Given the description of an element on the screen output the (x, y) to click on. 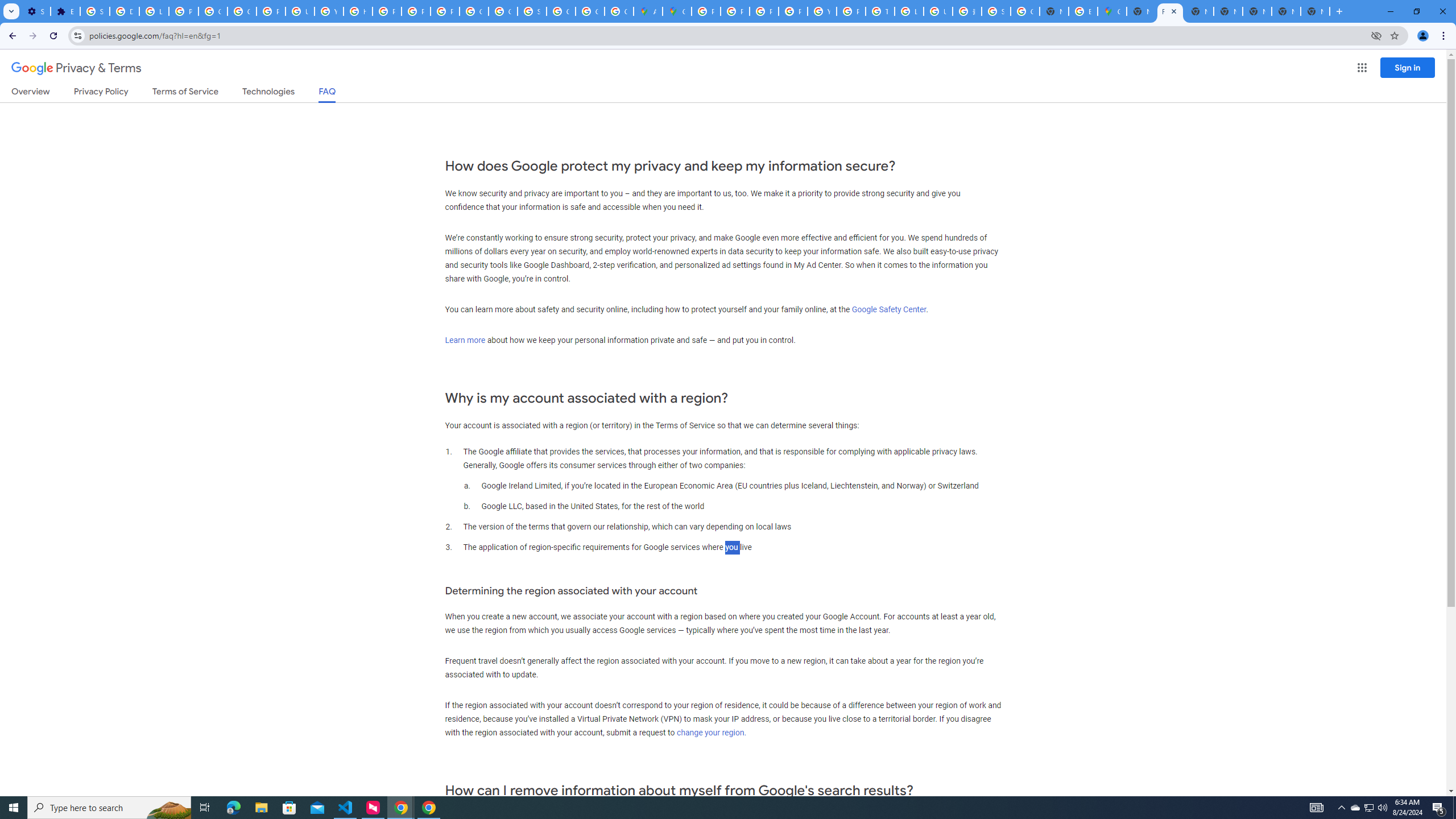
Create your Google Account (619, 11)
Privacy Help Center - Policies Help (386, 11)
Google Safety Center (888, 309)
Settings - On startup (35, 11)
Tips & tricks for Chrome - Google Chrome Help (879, 11)
Privacy Help Center - Policies Help (763, 11)
